Given the description of an element on the screen output the (x, y) to click on. 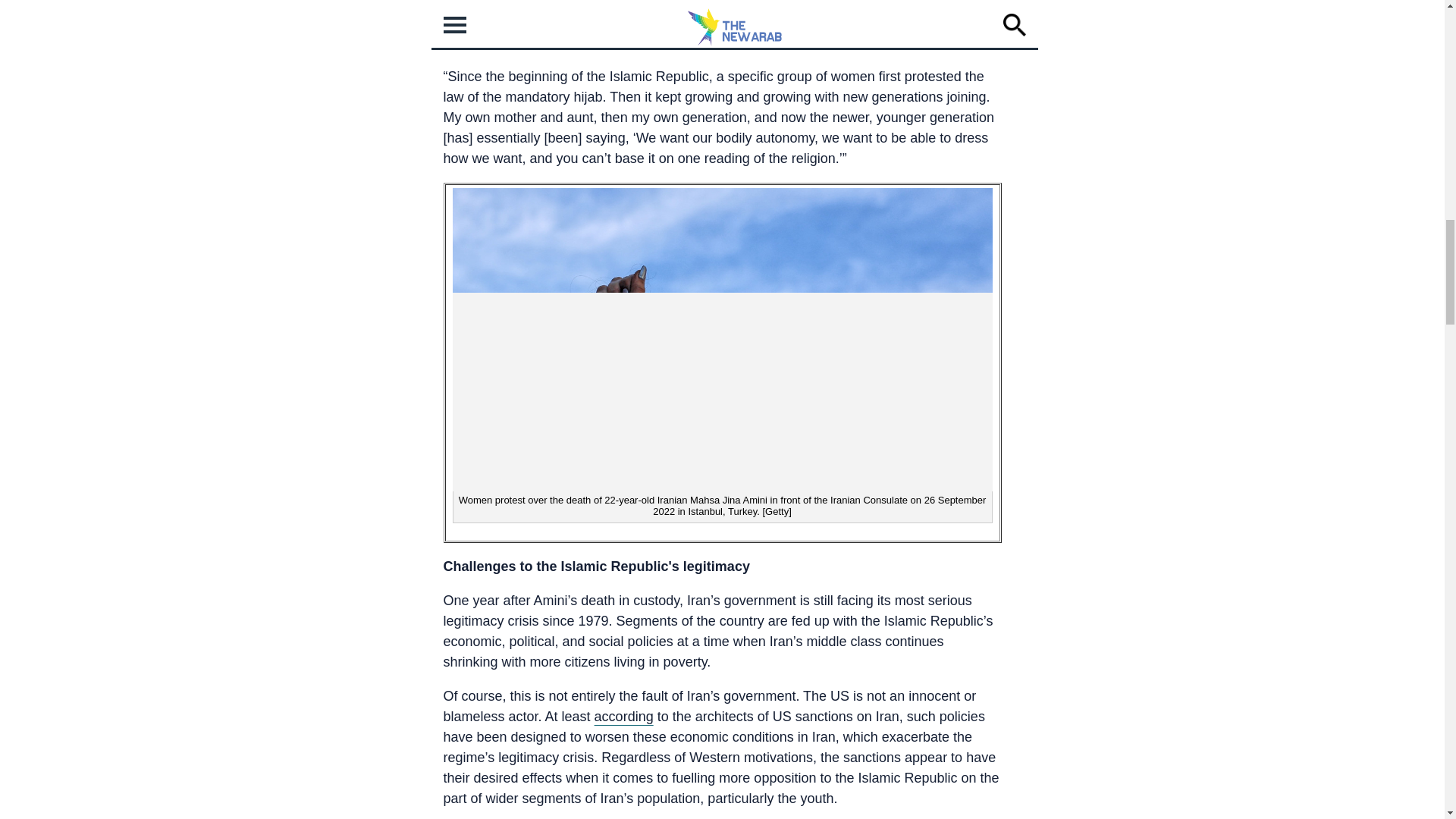
according (623, 716)
